Given the description of an element on the screen output the (x, y) to click on. 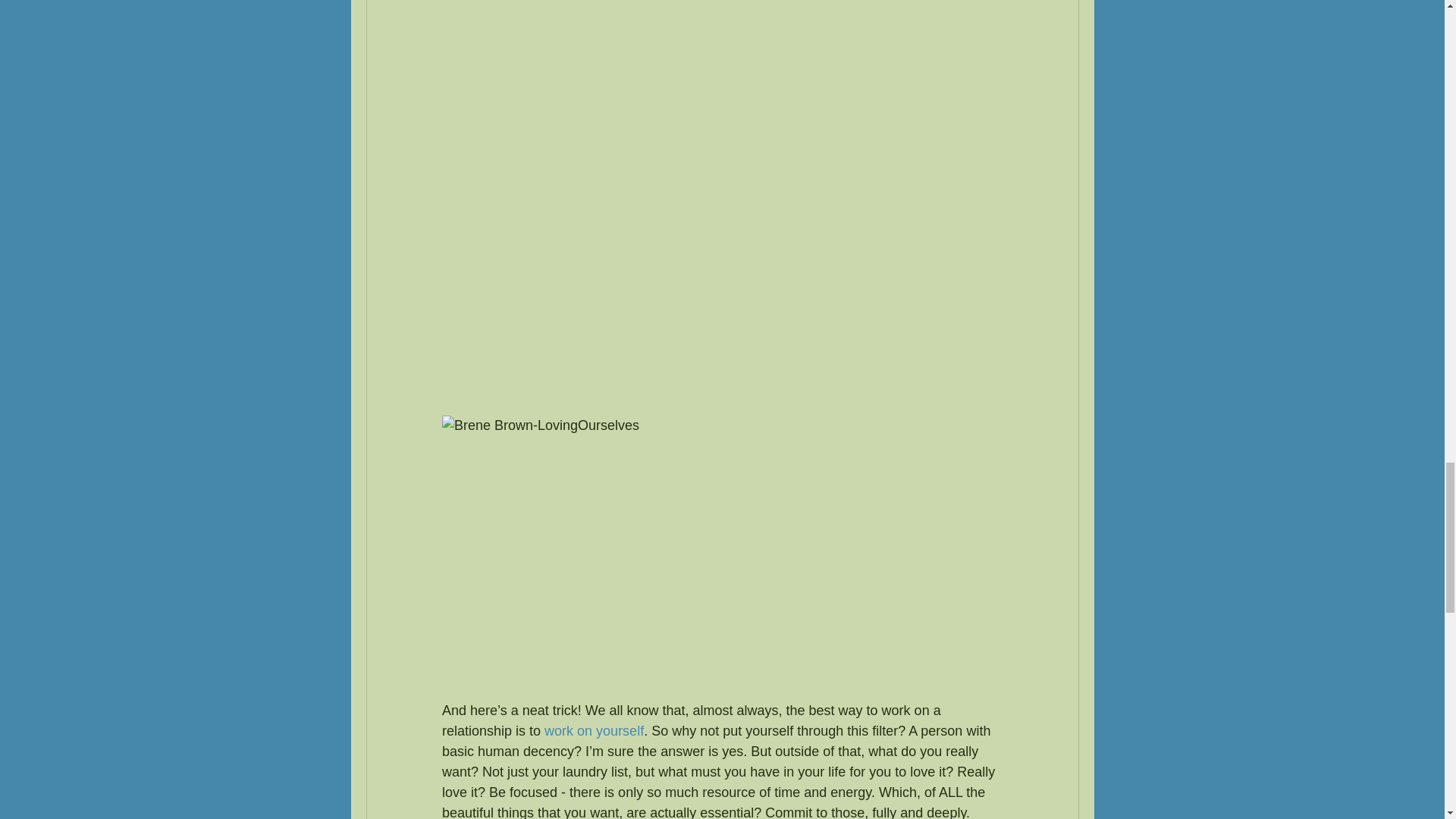
work on yourself (593, 730)
